Given the description of an element on the screen output the (x, y) to click on. 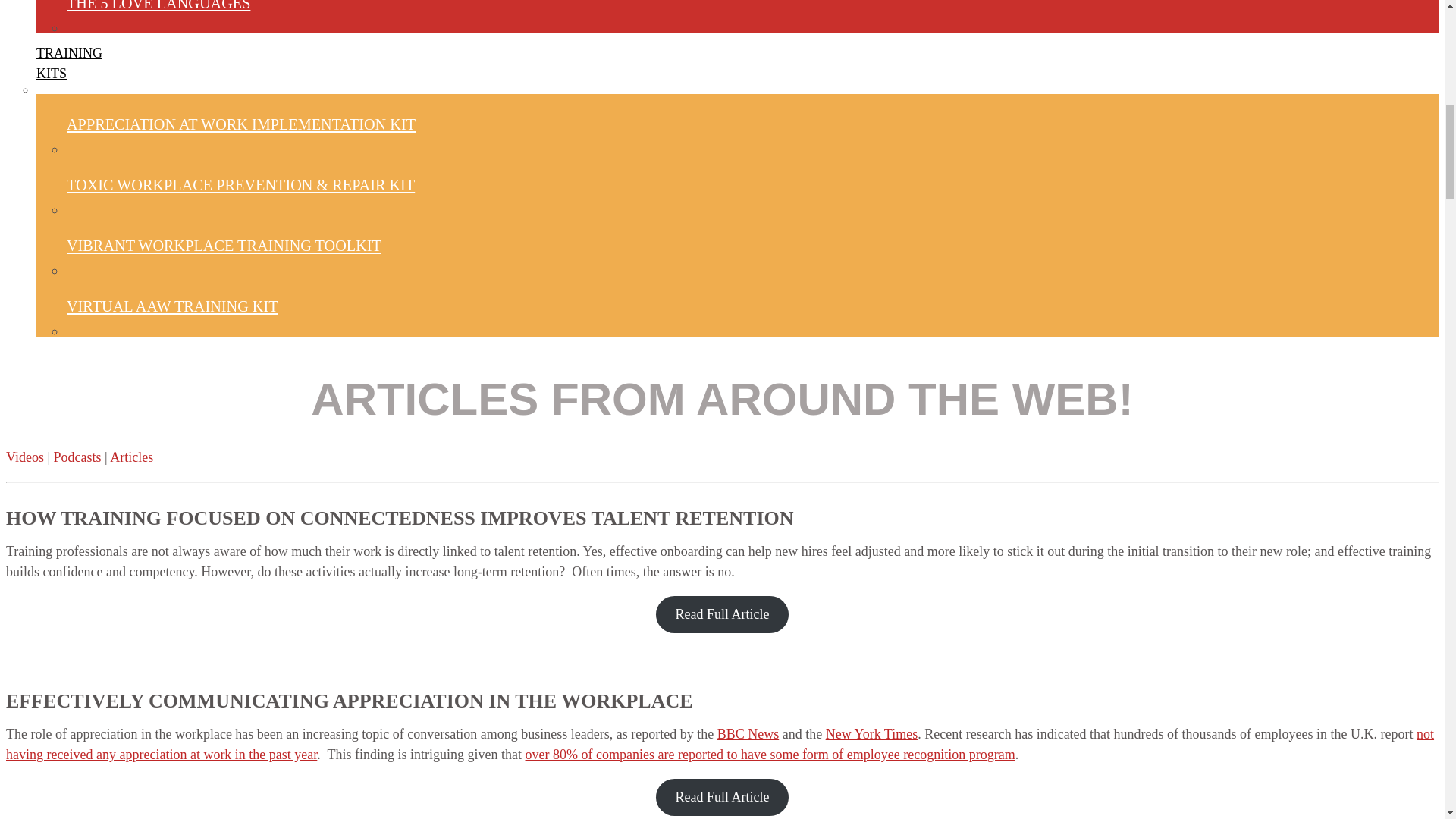
VIRTUAL AAW TRAINING KIT (172, 306)
THE 5 LOVE LANGUAGES (158, 16)
Read Full Article (722, 614)
Articles (131, 457)
APPRECIATION AT WORK IMPLEMENTATION KIT (240, 124)
Read Full Article (68, 63)
New York Times (722, 796)
Podcasts (871, 734)
BBC News (77, 457)
VIBRANT WORKPLACE TRAINING TOOLKIT (747, 734)
Videos (223, 245)
